Given the description of an element on the screen output the (x, y) to click on. 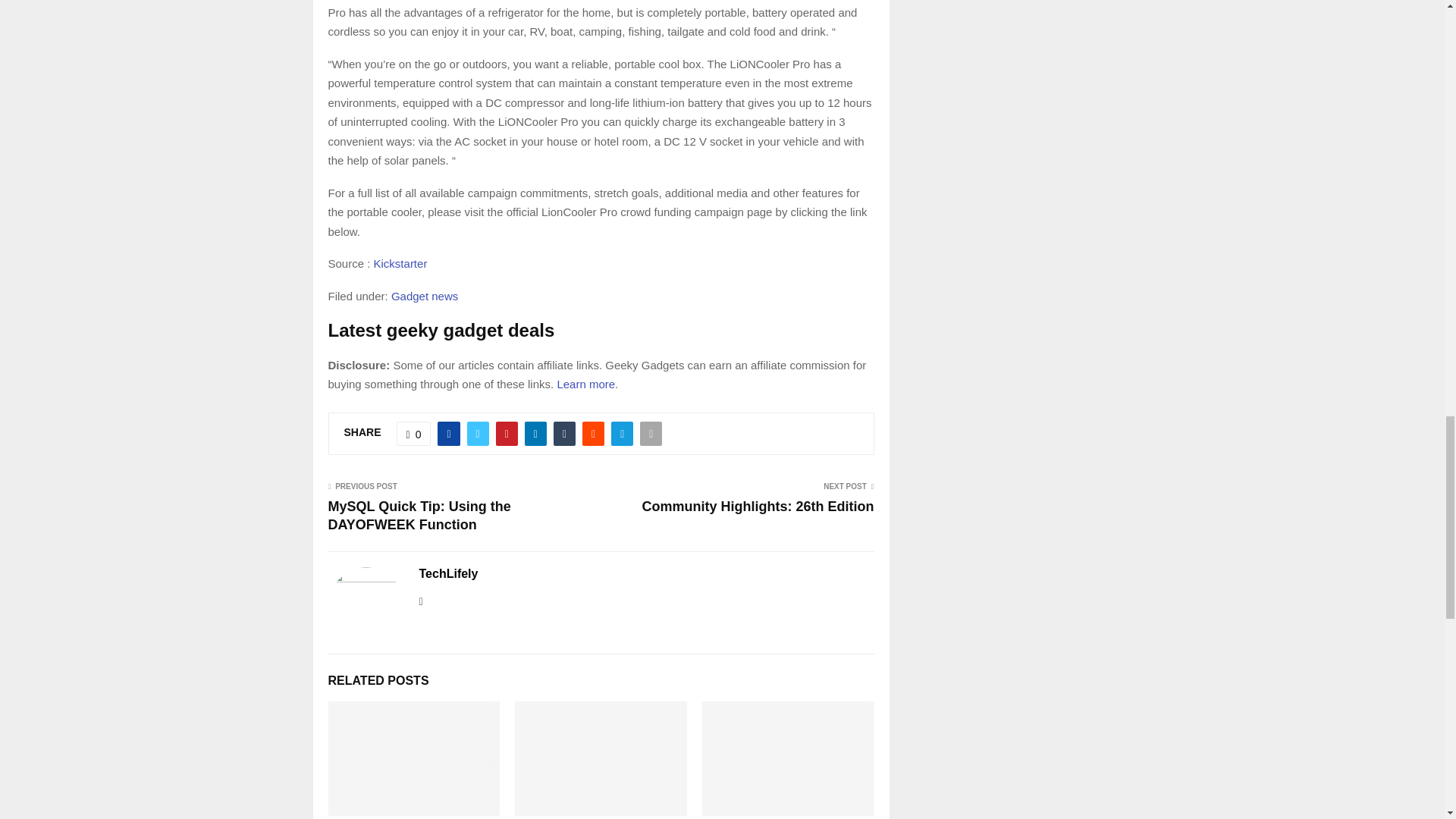
0 (413, 433)
Kickstarter (401, 263)
Like (413, 433)
Gadget news (424, 295)
Learn more (585, 383)
